Given the description of an element on the screen output the (x, y) to click on. 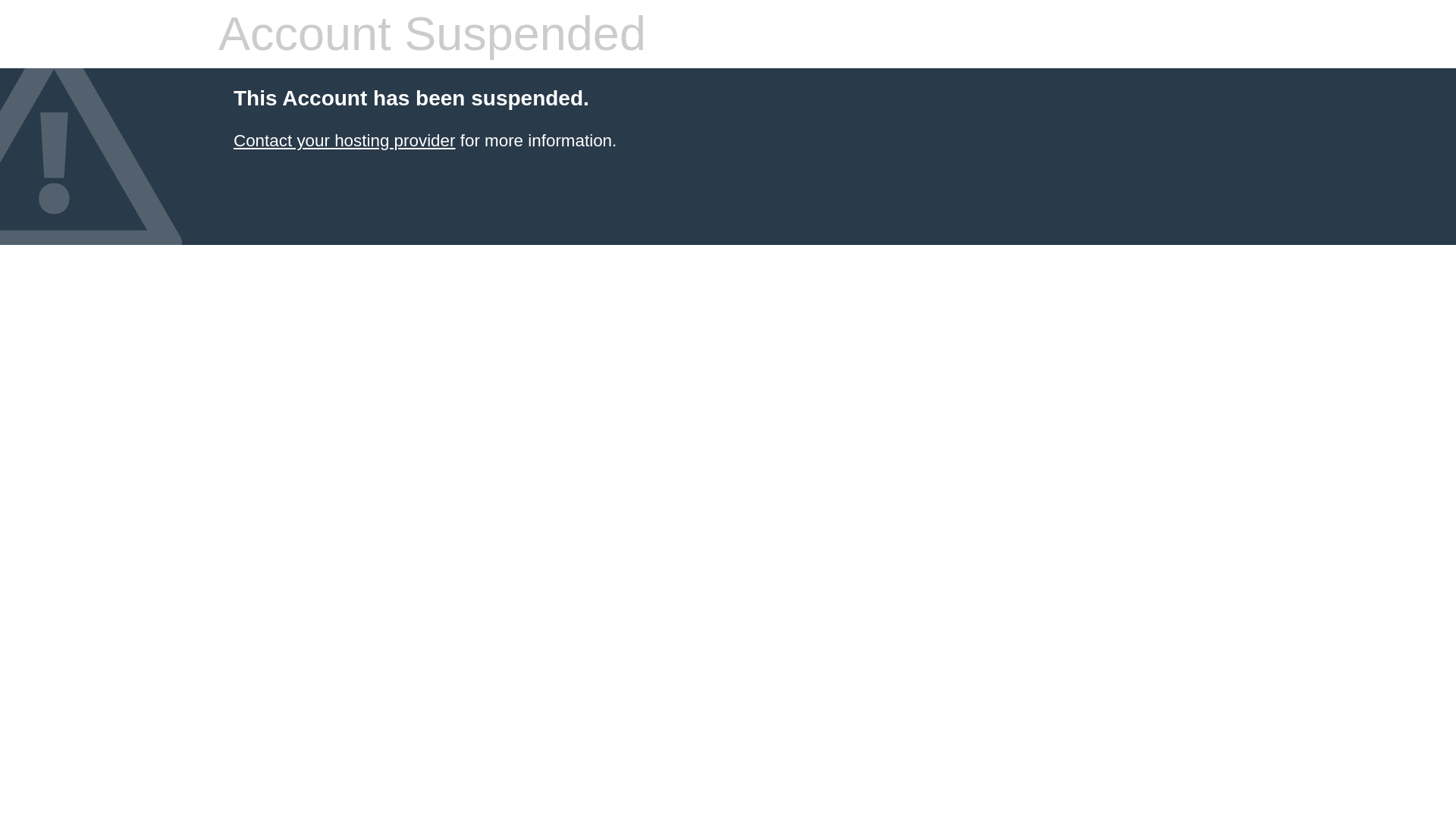
Minhaj IT Solution (343, 140)
Contact your hosting provider (343, 140)
